Given the description of an element on the screen output the (x, y) to click on. 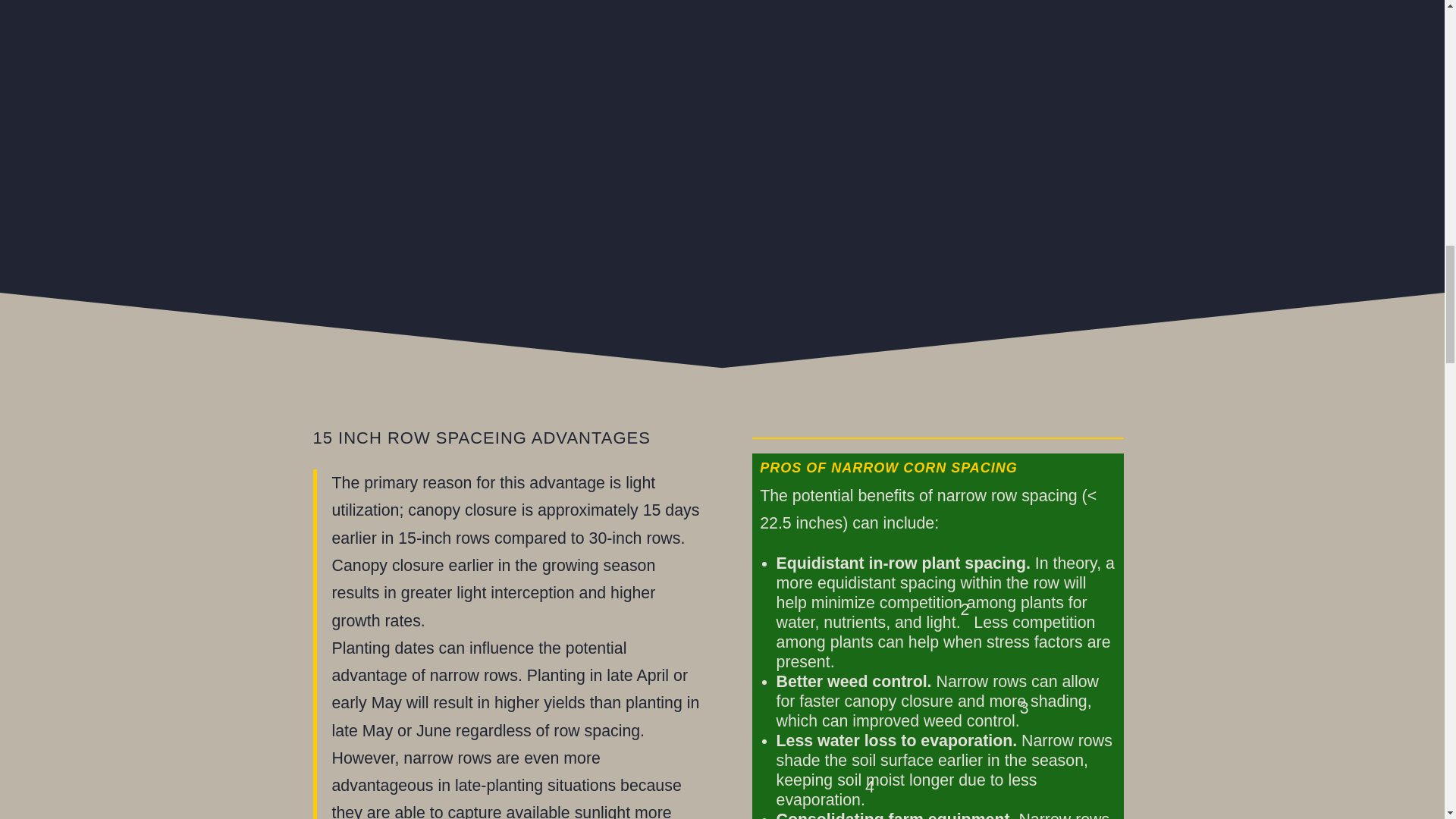
15-Inch Corn Head with Calmer BT Chopper Stalk Rolls (505, 135)
Choosing the Right Seed for Narrow Row Corn (937, 135)
